Given the description of an element on the screen output the (x, y) to click on. 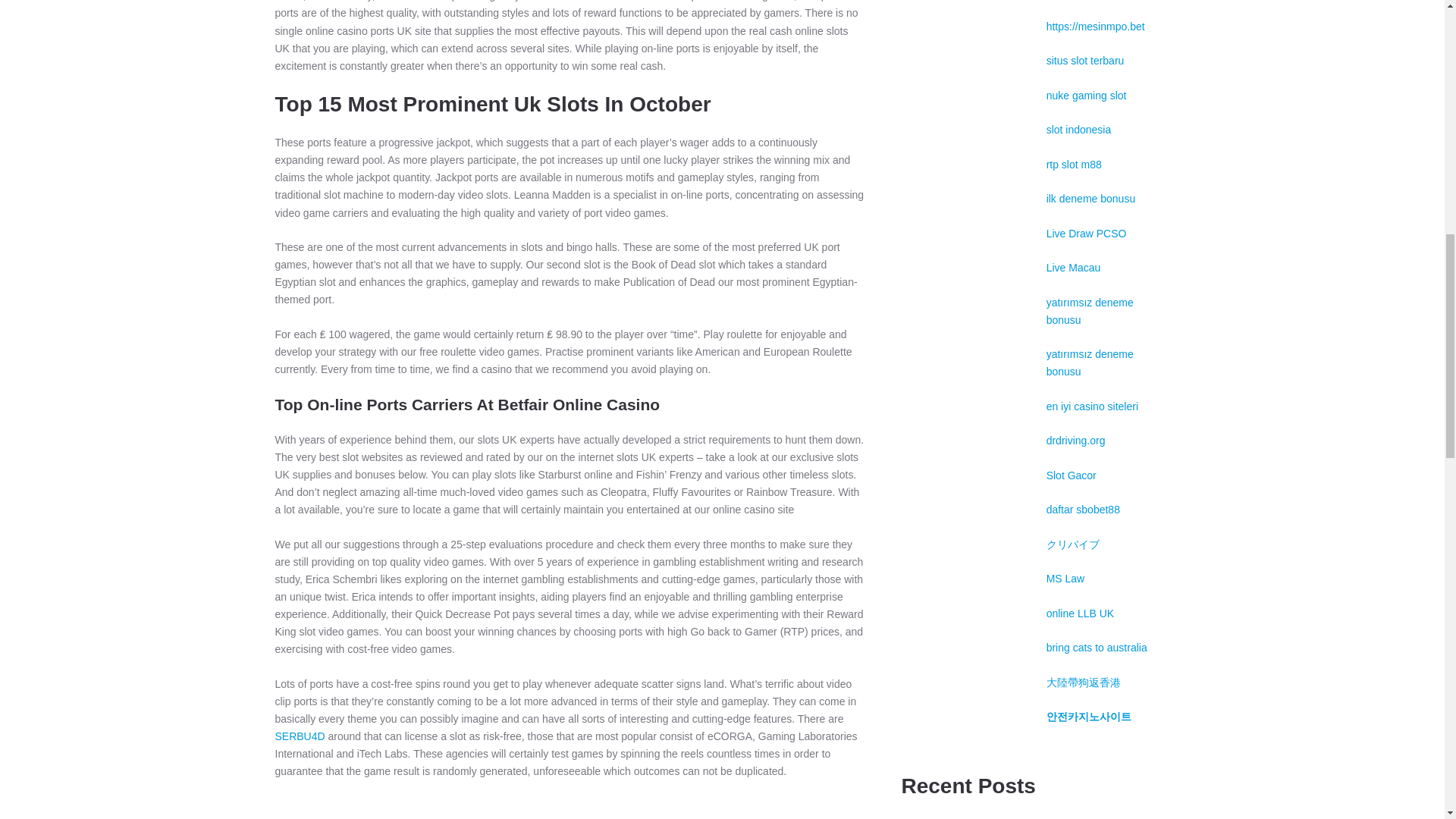
drdriving.org (1075, 440)
ilk deneme bonusu (1090, 198)
Slot Gacor (1071, 475)
SERBU4D (299, 736)
daftar sbobet88 (1082, 509)
situs slot terbaru (1085, 60)
Live Draw PCSO (1086, 233)
slot indonesia (1079, 129)
en iyi casino siteleri (1092, 406)
bring cats to australia (1096, 647)
nuke gaming slot (1086, 95)
online LLB UK (1080, 613)
Live Macau (1073, 267)
MS Law (1065, 578)
rtp slot m88 (1074, 164)
